Given the description of an element on the screen output the (x, y) to click on. 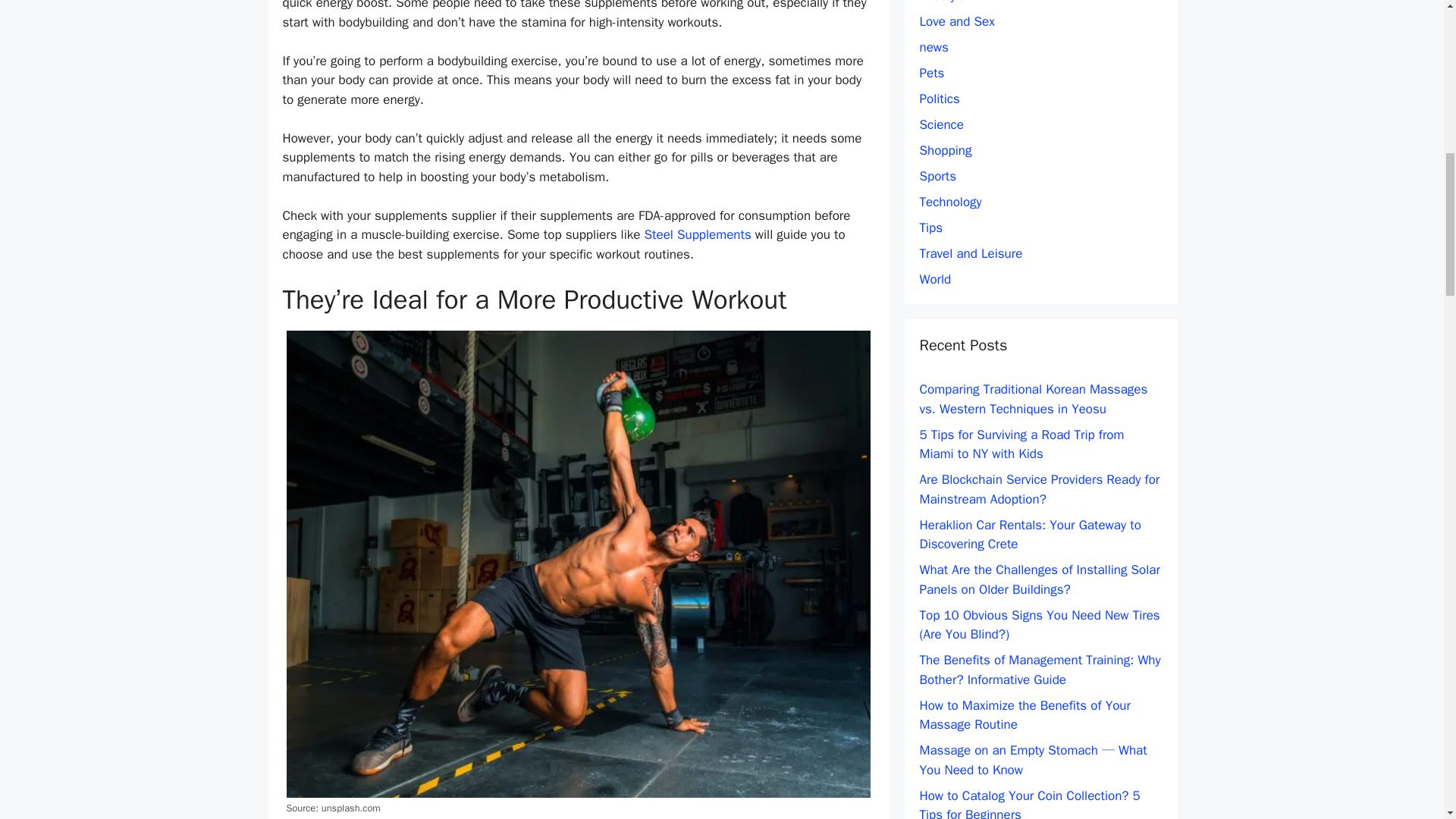
Steel Supplements (698, 234)
